Given the description of an element on the screen output the (x, y) to click on. 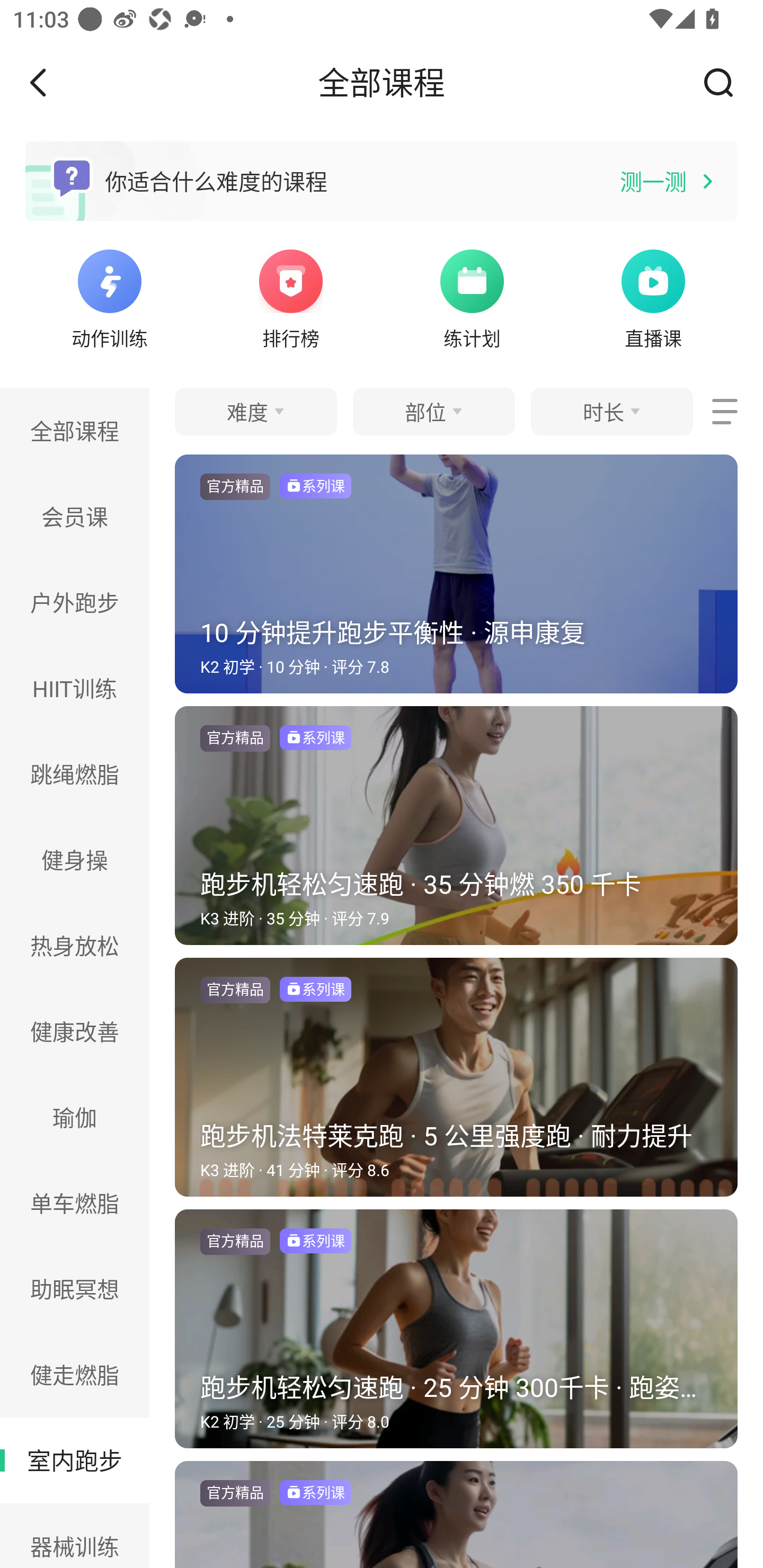
Left Button In Title Bar (50, 82)
Right Button In Title Bar (724, 82)
你适合什么难度的课程 测一测 (381, 181)
动作训练 (109, 297)
排行榜 (290, 297)
练计划 (471, 297)
直播课 (653, 297)
全部课程 (74, 430)
难度 (255, 411)
部位 (433, 411)
时长 (611, 411)
会员课 (74, 516)
户外跑步 (74, 601)
HIIT训练 (74, 687)
跳绳燃脂 (74, 773)
健身操 (74, 859)
热身放松 (74, 945)
健康改善 (74, 1030)
瑜伽 (74, 1117)
单车燃脂 (74, 1203)
助眠冥想 (74, 1288)
健走燃脂 (74, 1374)
室内跑步 (74, 1460)
器械训练 (74, 1535)
